Given the description of an element on the screen output the (x, y) to click on. 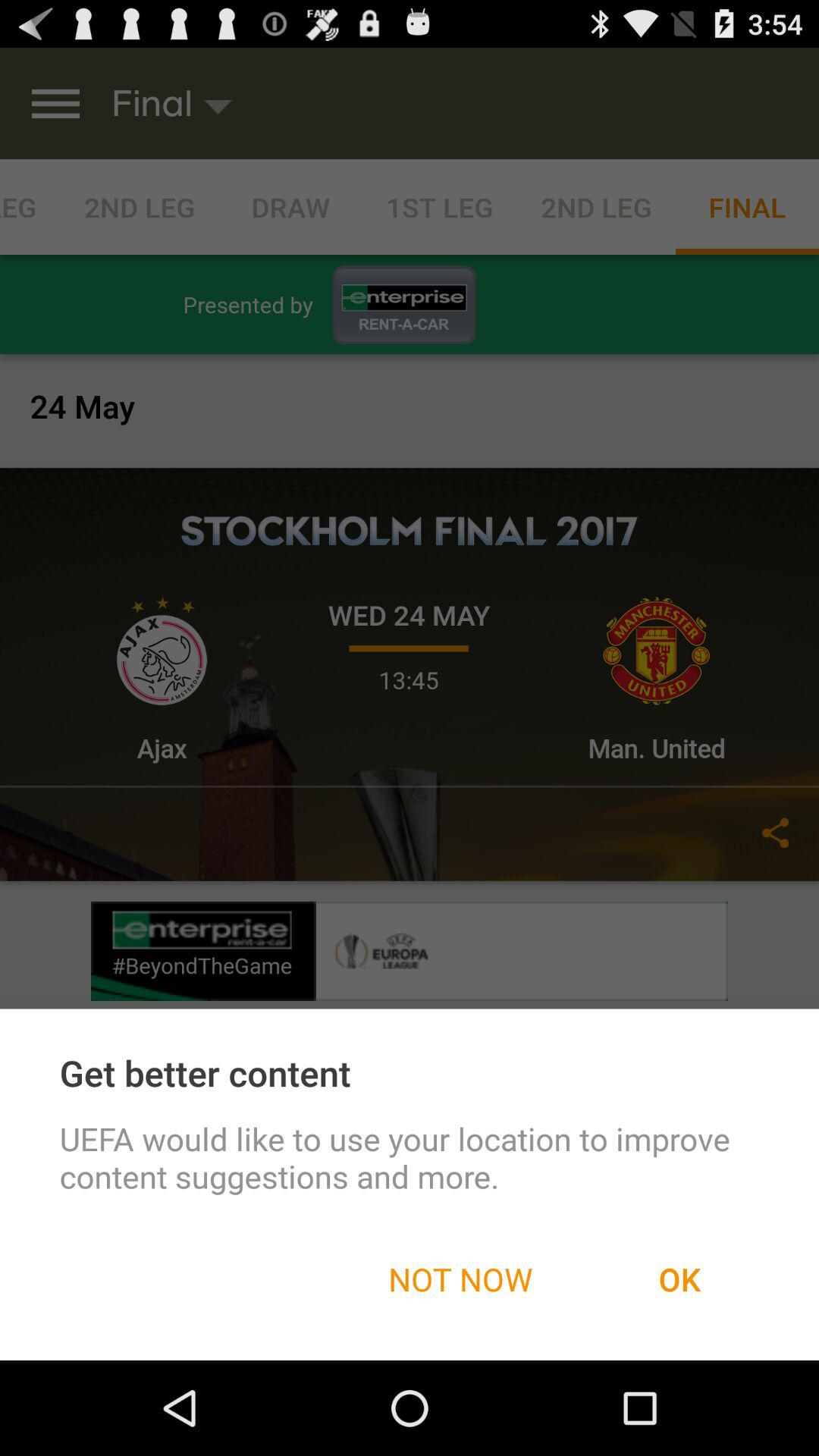
launch icon to the right of the not now item (679, 1278)
